Given the description of an element on the screen output the (x, y) to click on. 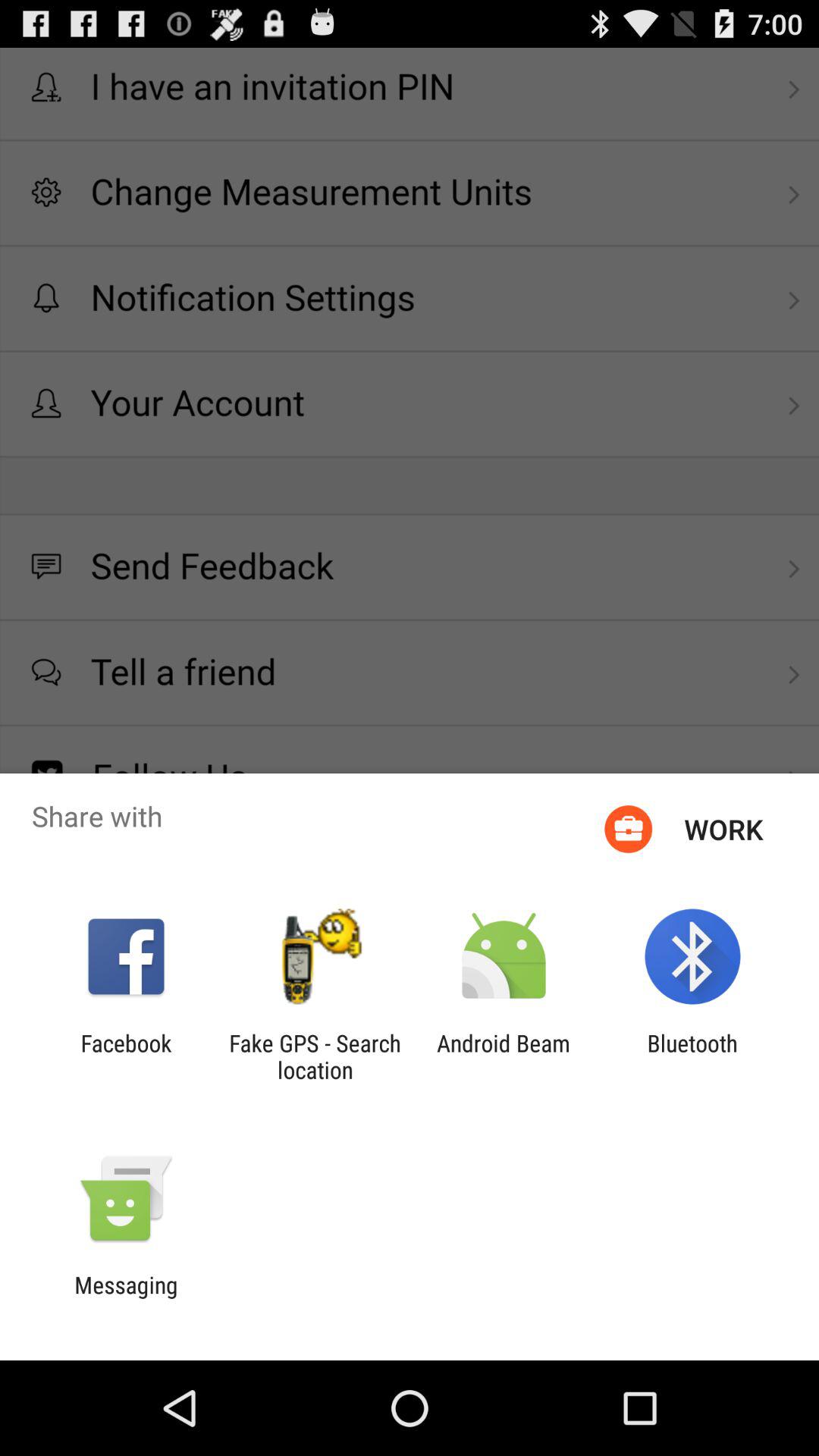
turn off the icon to the left of bluetooth item (503, 1056)
